Given the description of an element on the screen output the (x, y) to click on. 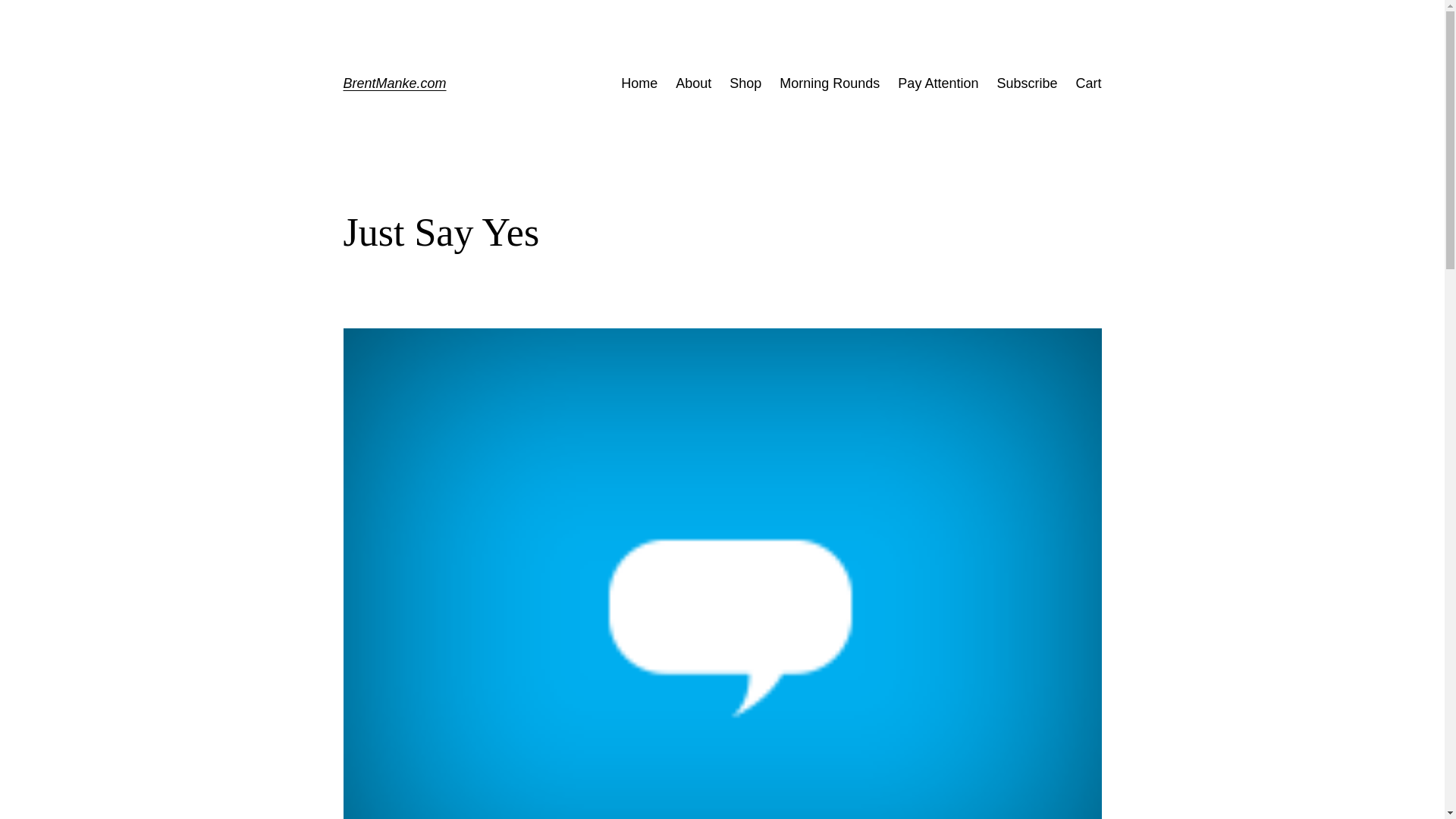
Subscribe (1026, 83)
Pay Attention (938, 83)
Morning Rounds (828, 83)
BrentManke.com (393, 83)
Home (639, 83)
Shop (745, 83)
About (693, 83)
Cart (1087, 83)
